Given the description of an element on the screen output the (x, y) to click on. 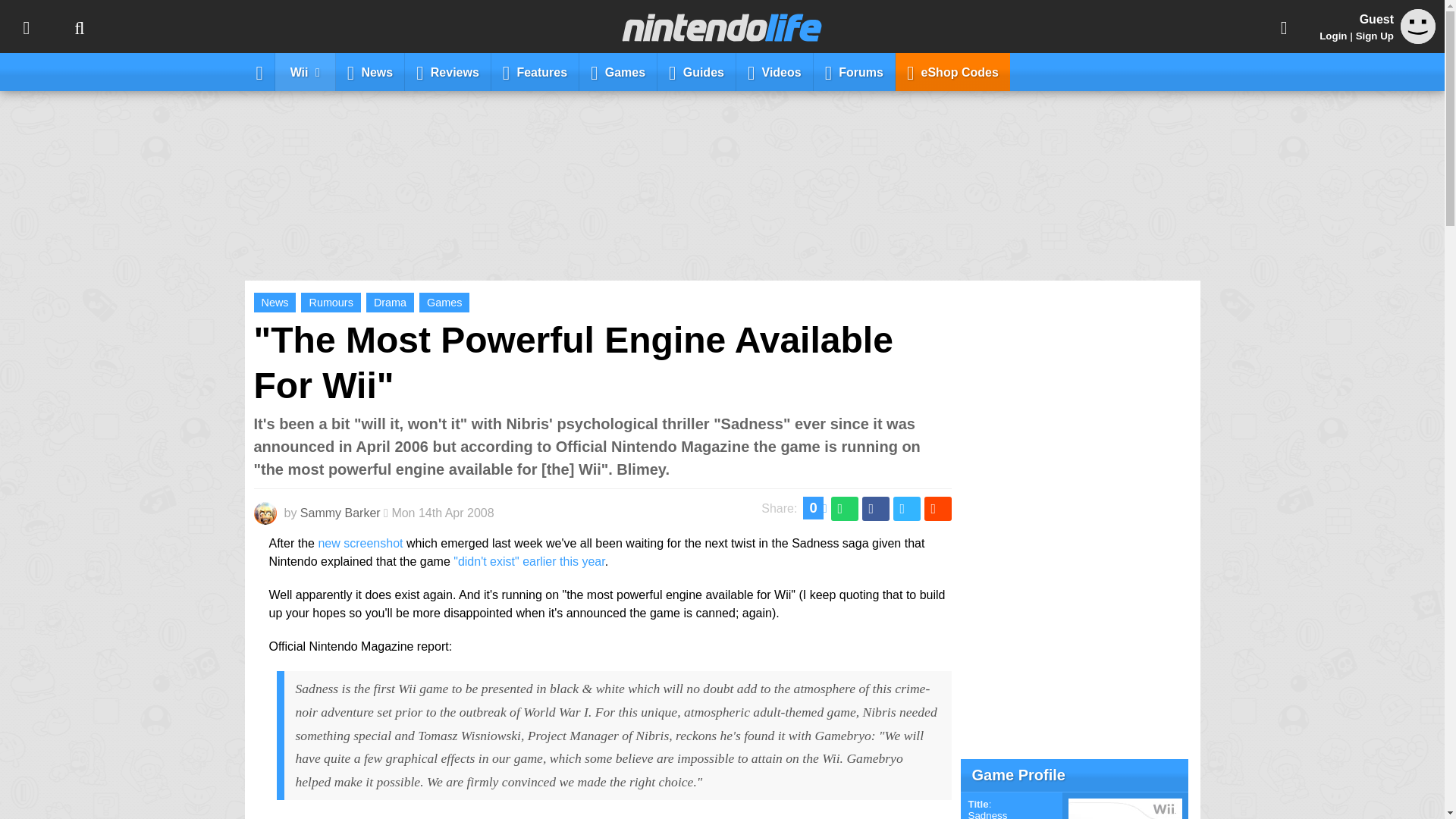
Forums (854, 71)
Reviews (448, 71)
Guides (697, 71)
Features (535, 71)
Wii (305, 71)
Topics (26, 26)
eShop Codes (952, 71)
Sign Up (1374, 35)
News (370, 71)
Share This Page (1283, 26)
Videos (774, 71)
Login (1332, 35)
Nintendo Life (721, 27)
Games (618, 71)
Search (79, 26)
